Given the description of an element on the screen output the (x, y) to click on. 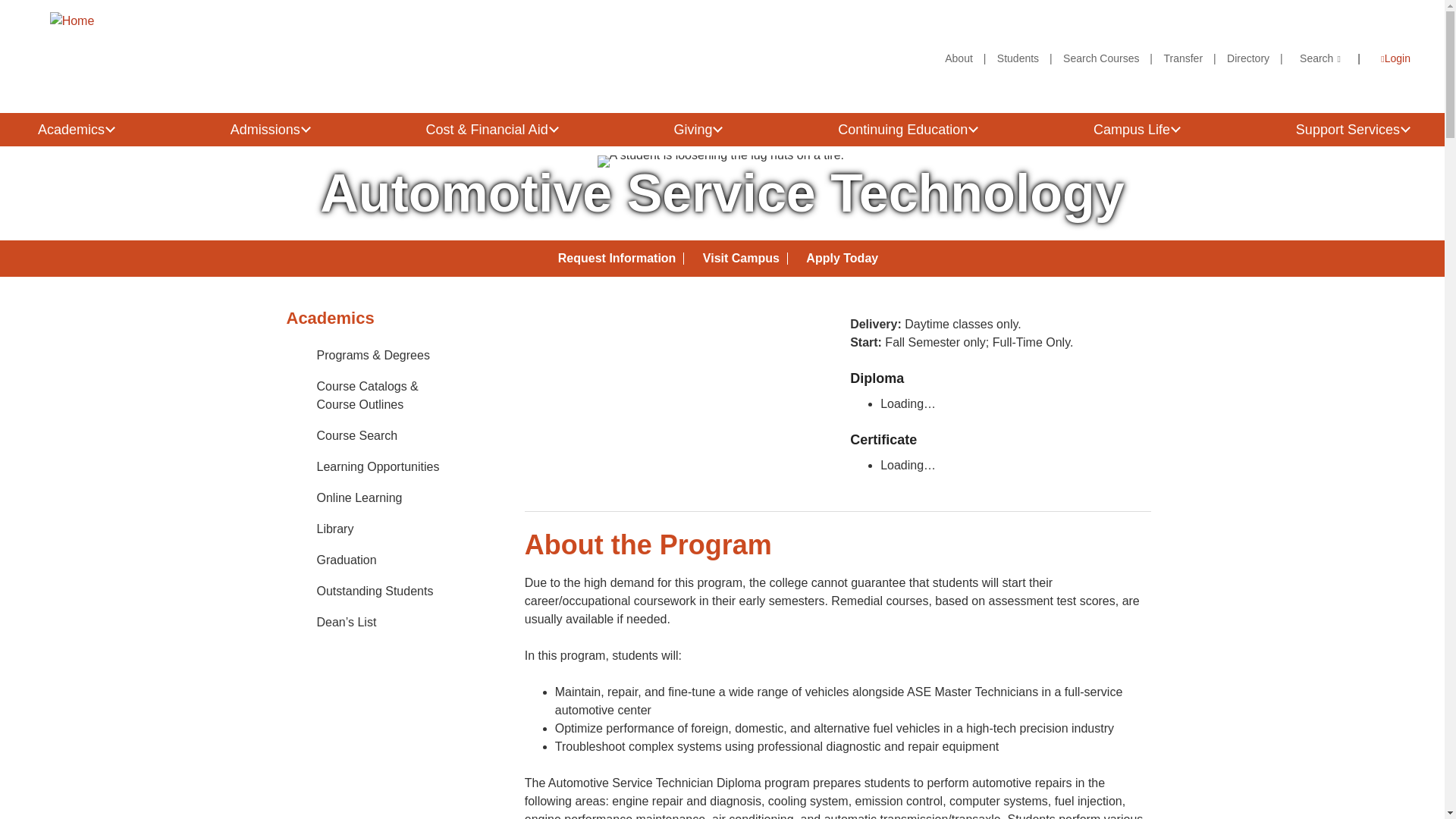
Search (1319, 58)
Home (71, 21)
Automotive Service Techology (767, 451)
Login (1386, 58)
Academics (74, 129)
Directory (1248, 58)
Transfer (1182, 58)
Students (1018, 58)
About (958, 58)
Admissions (268, 129)
